Given the description of an element on the screen output the (x, y) to click on. 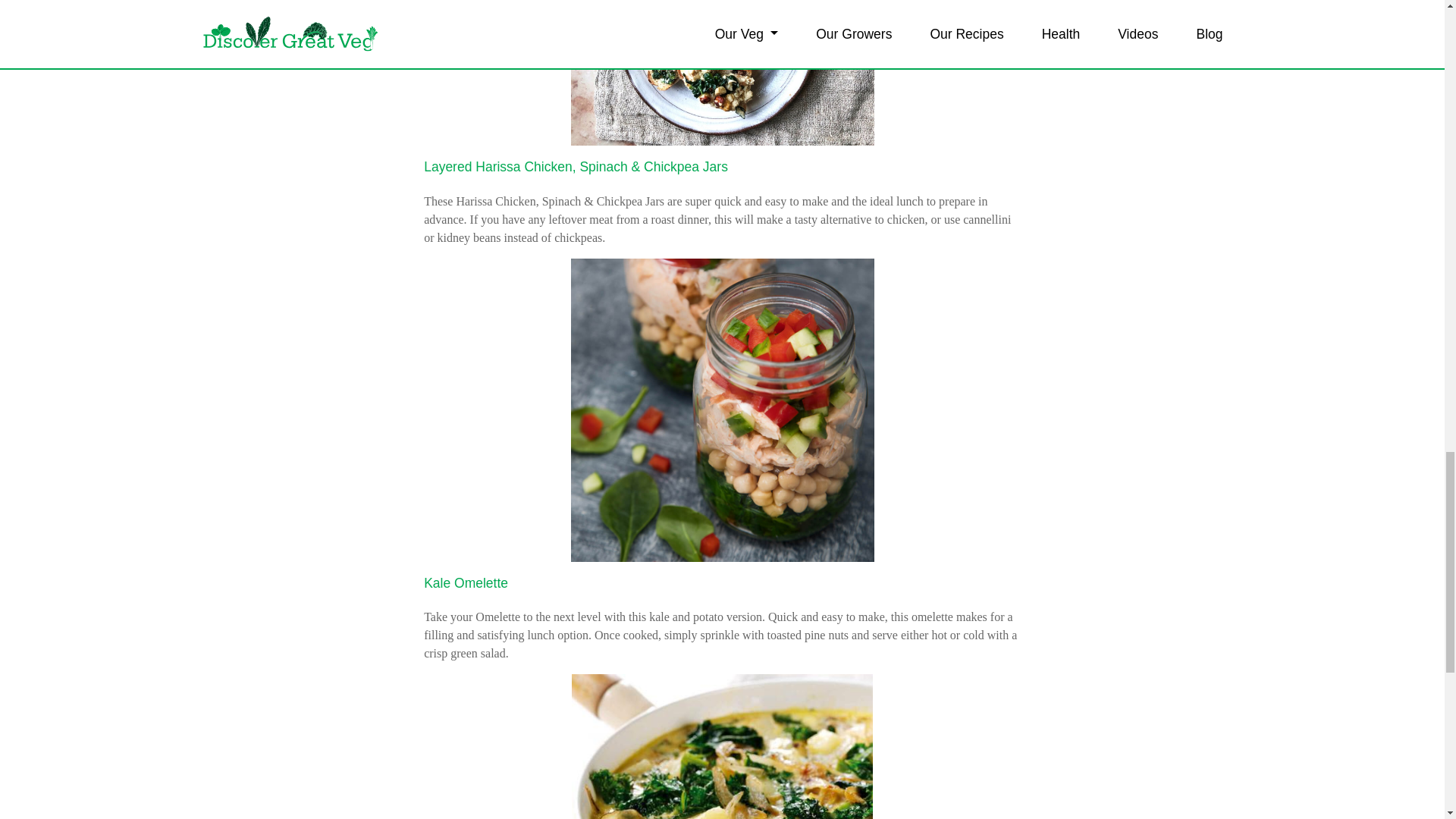
Kale Omelette (465, 581)
